Given the description of an element on the screen output the (x, y) to click on. 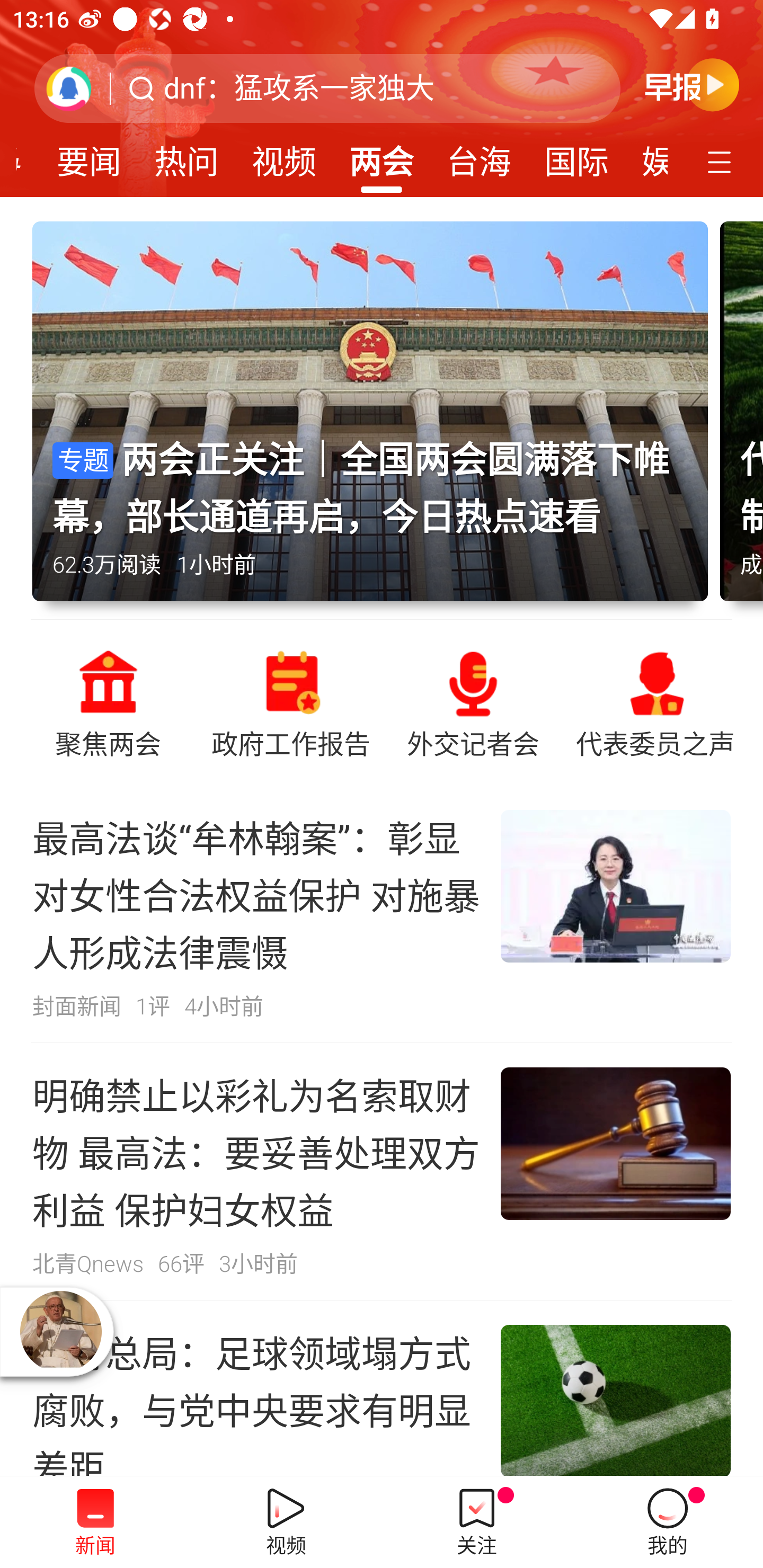
早晚报 (691, 84)
刷新 (68, 88)
dnf：猛攻系一家独大 (299, 88)
要闻 (89, 155)
热问 (186, 155)
视频 (283, 155)
两会 (381, 155)
台海 (478, 155)
国际 (575, 155)
 定制频道 (721, 160)
专题两会正关注｜全国两会圆满落下帷幕，部长通道再启，今日热点速看 62.3万阅读   1小时前 (376, 420)
聚焦两会 (107, 702)
政府工作报告 (290, 702)
外交记者会 (473, 702)
代表委员之声 (655, 702)
最高法谈“牟林翰案”：彰显对女性合法权益保护 对施暴人形成法律震慑 封面新闻 1评 4小时前 (381, 913)
播放器 (60, 1331)
体育总局：足球领域塌方式腐败，与党中央要求有明显差距 (381, 1388)
